Given the description of an element on the screen output the (x, y) to click on. 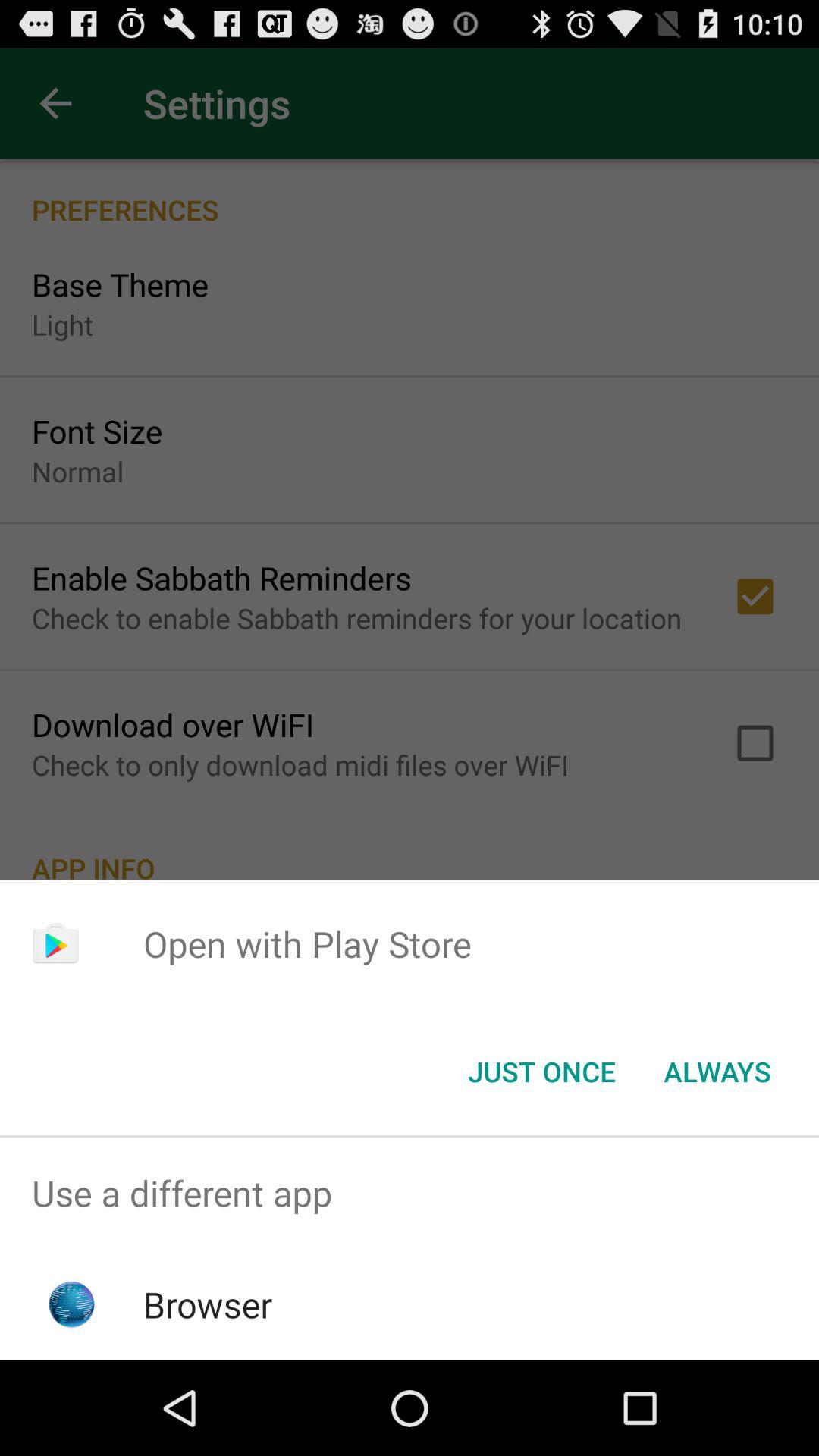
tap the button at the bottom right corner (717, 1071)
